Given the description of an element on the screen output the (x, y) to click on. 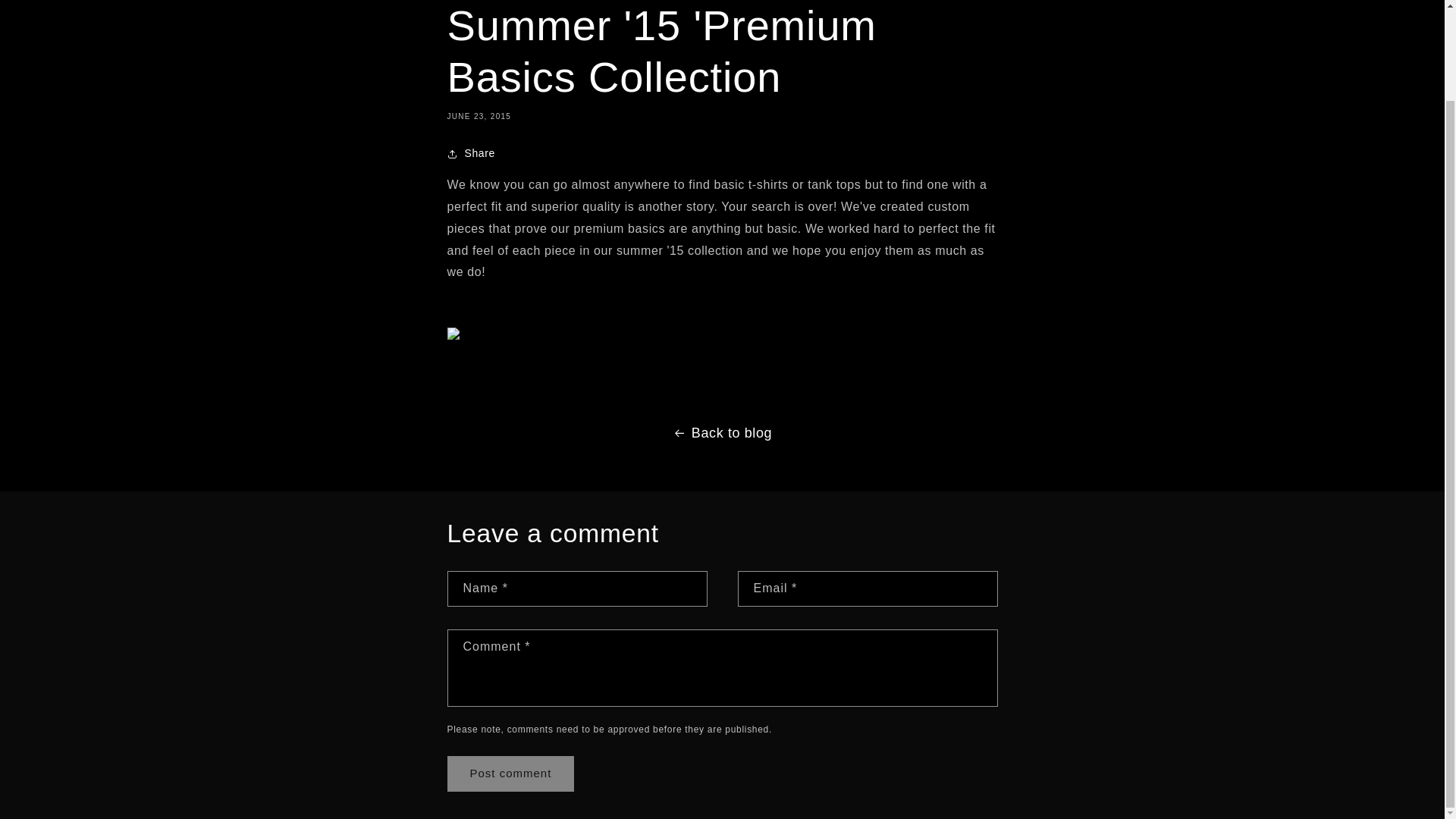
Post comment (510, 773)
Post comment (510, 773)
